Given the description of an element on the screen output the (x, y) to click on. 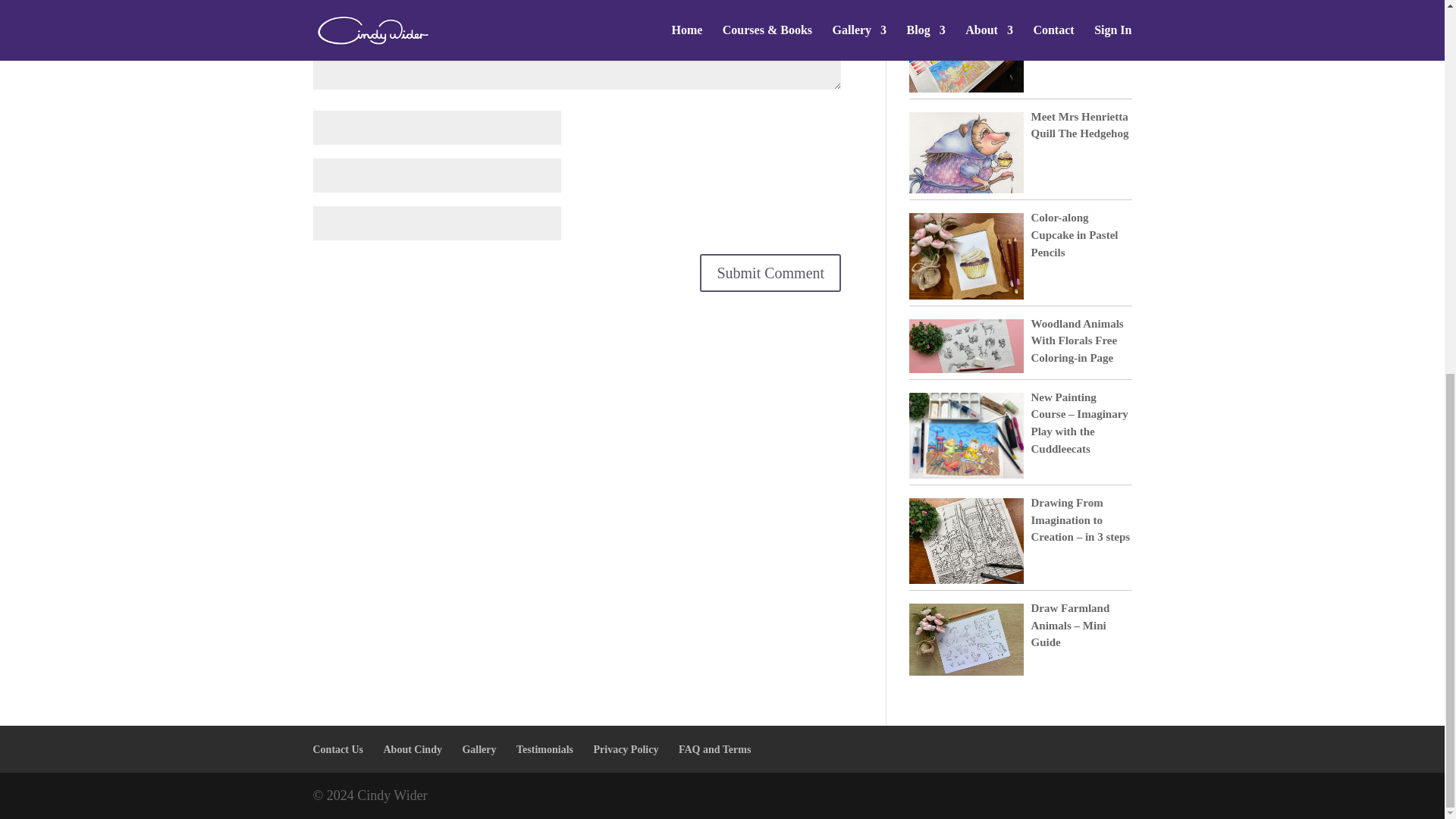
Submit Comment (770, 272)
Submit Comment (770, 272)
Color-along Cupcake in Pastel Pencils (1074, 234)
Top 10 Tips To Help You Draw and Color More Often (1081, 38)
Meet Mrs Henrietta Quill The Hedgehog (1079, 125)
Woodland Animals With Florals Free Coloring-in Page (1077, 340)
